Given the description of an element on the screen output the (x, y) to click on. 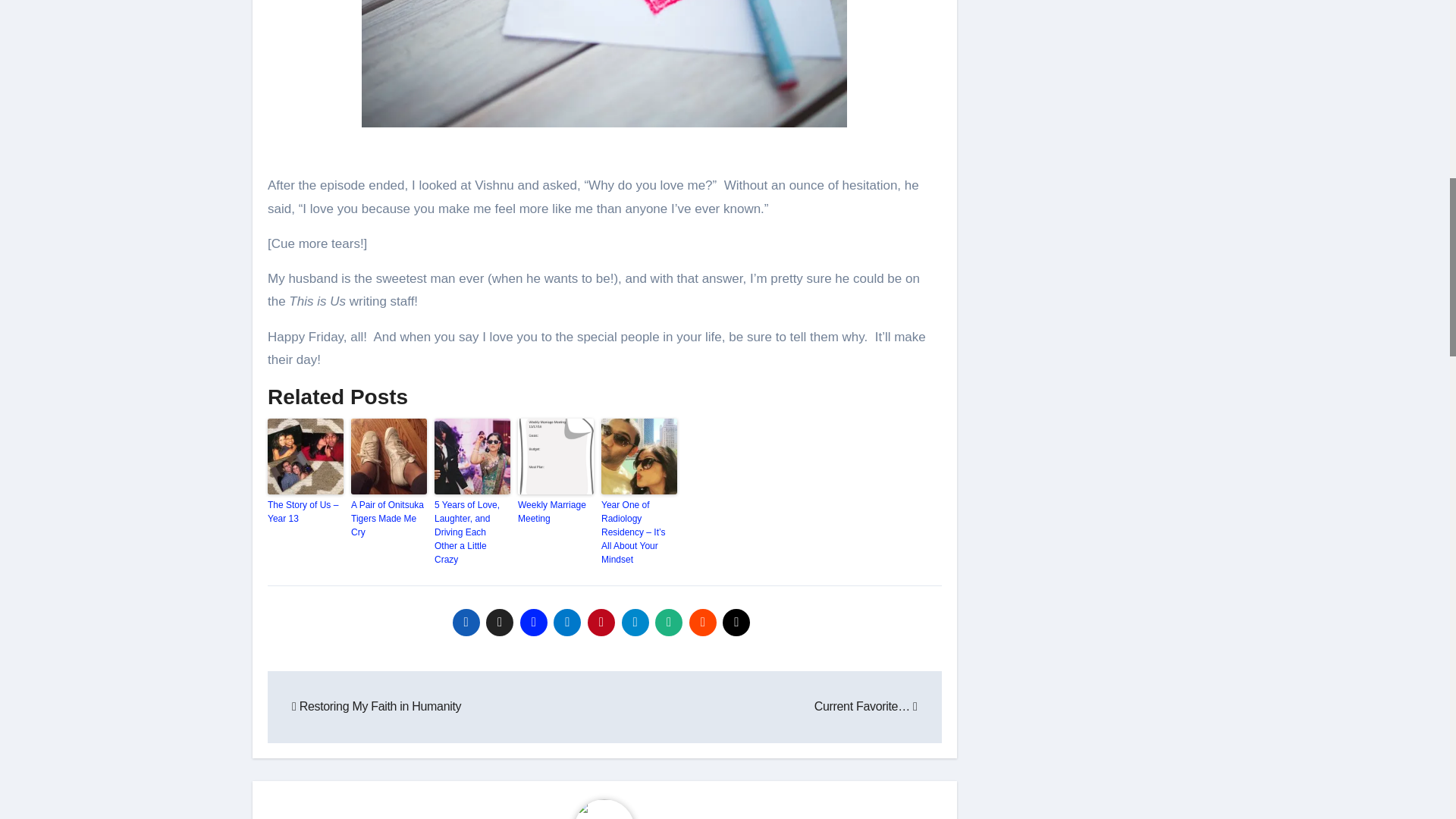
A Pair of Onitsuka Tigers Made Me Cry (388, 517)
Weekly Marriage Meeting (556, 511)
